Given the description of an element on the screen output the (x, y) to click on. 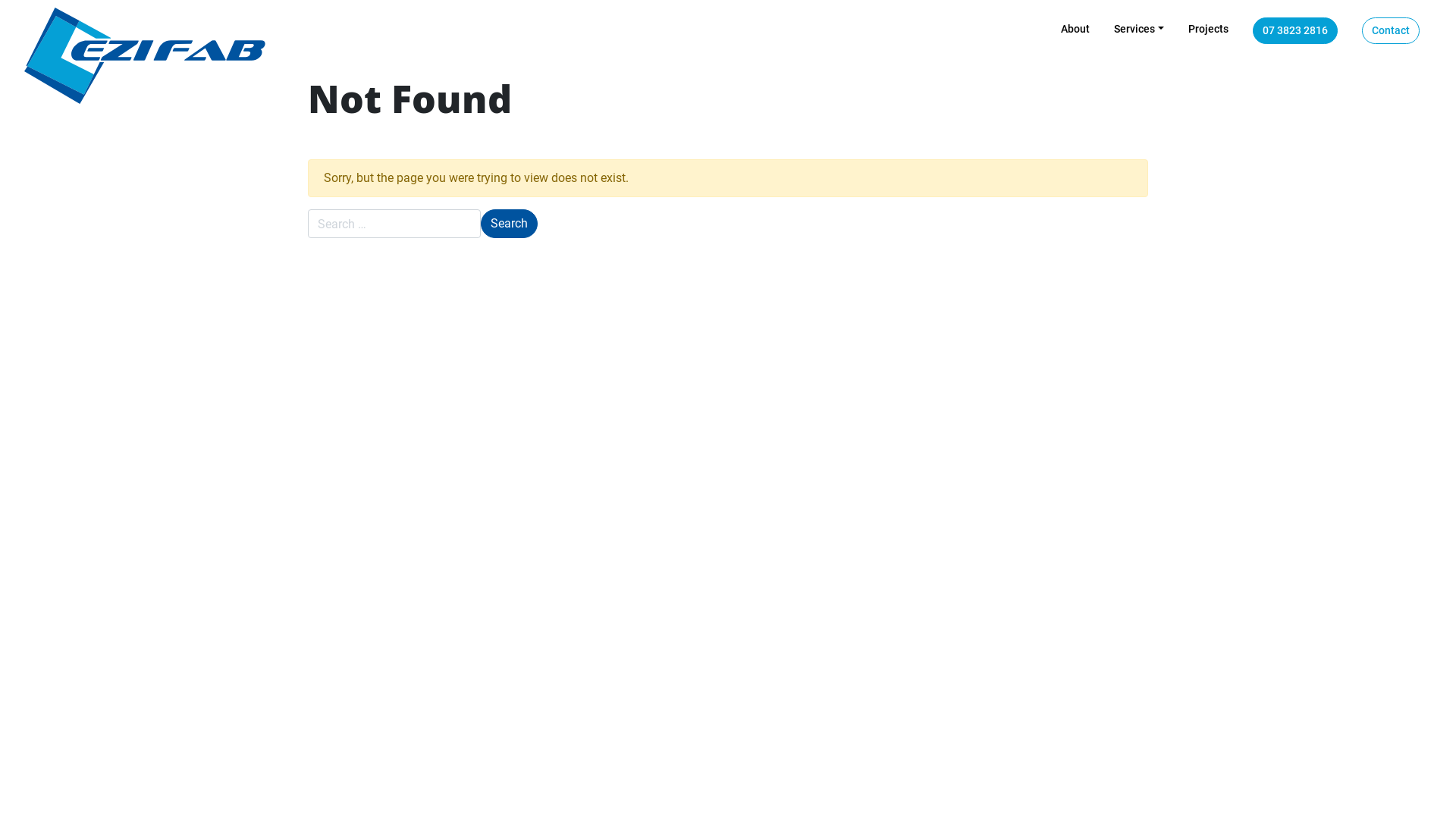
Projects Element type: text (1208, 29)
Services Element type: text (1138, 29)
Search Element type: text (508, 223)
07 3823 2816 Element type: text (1294, 29)
About Element type: text (1074, 29)
Contact Element type: text (1390, 29)
